Given the description of an element on the screen output the (x, y) to click on. 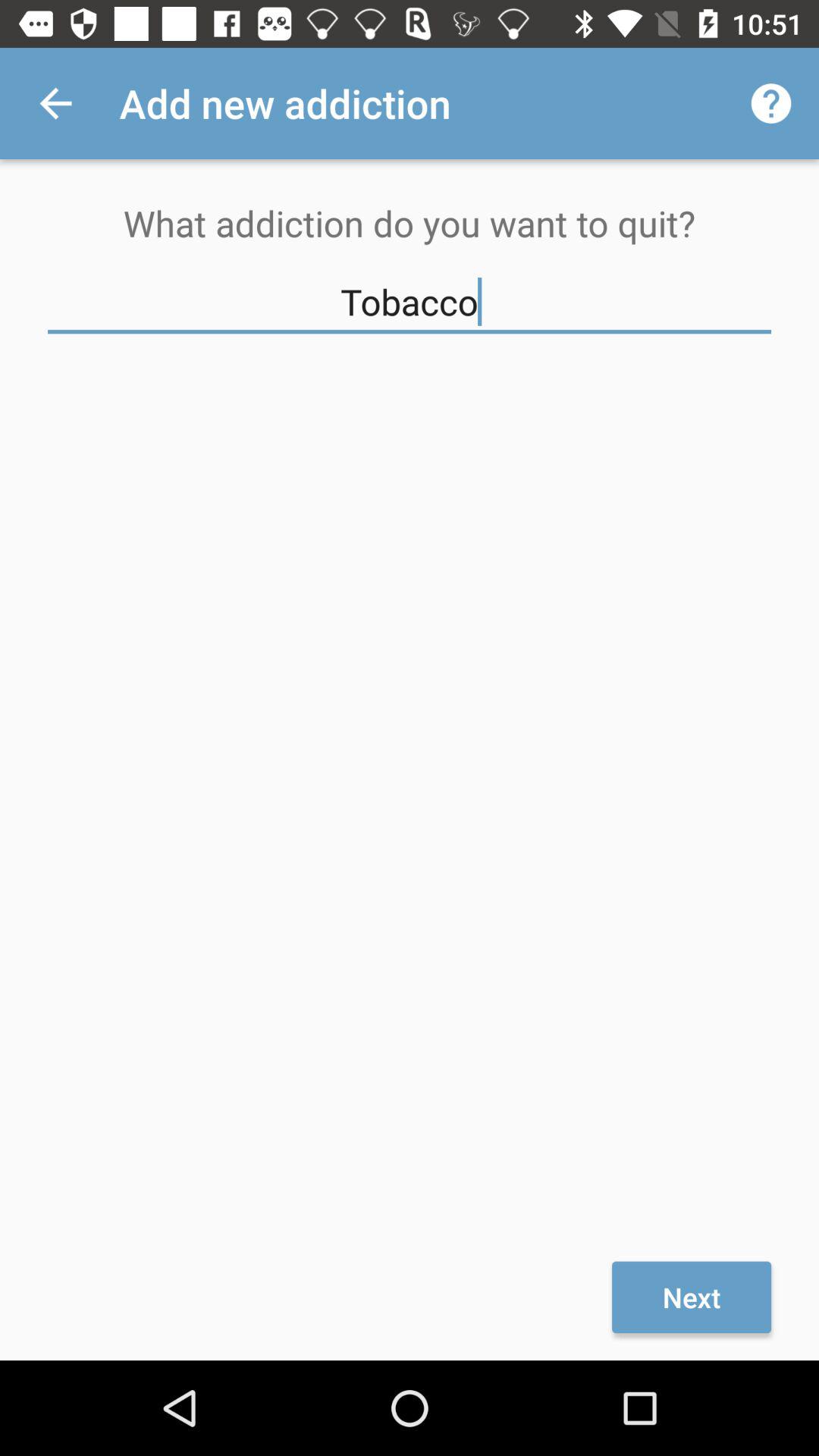
press icon next to add new addiction app (771, 103)
